Given the description of an element on the screen output the (x, y) to click on. 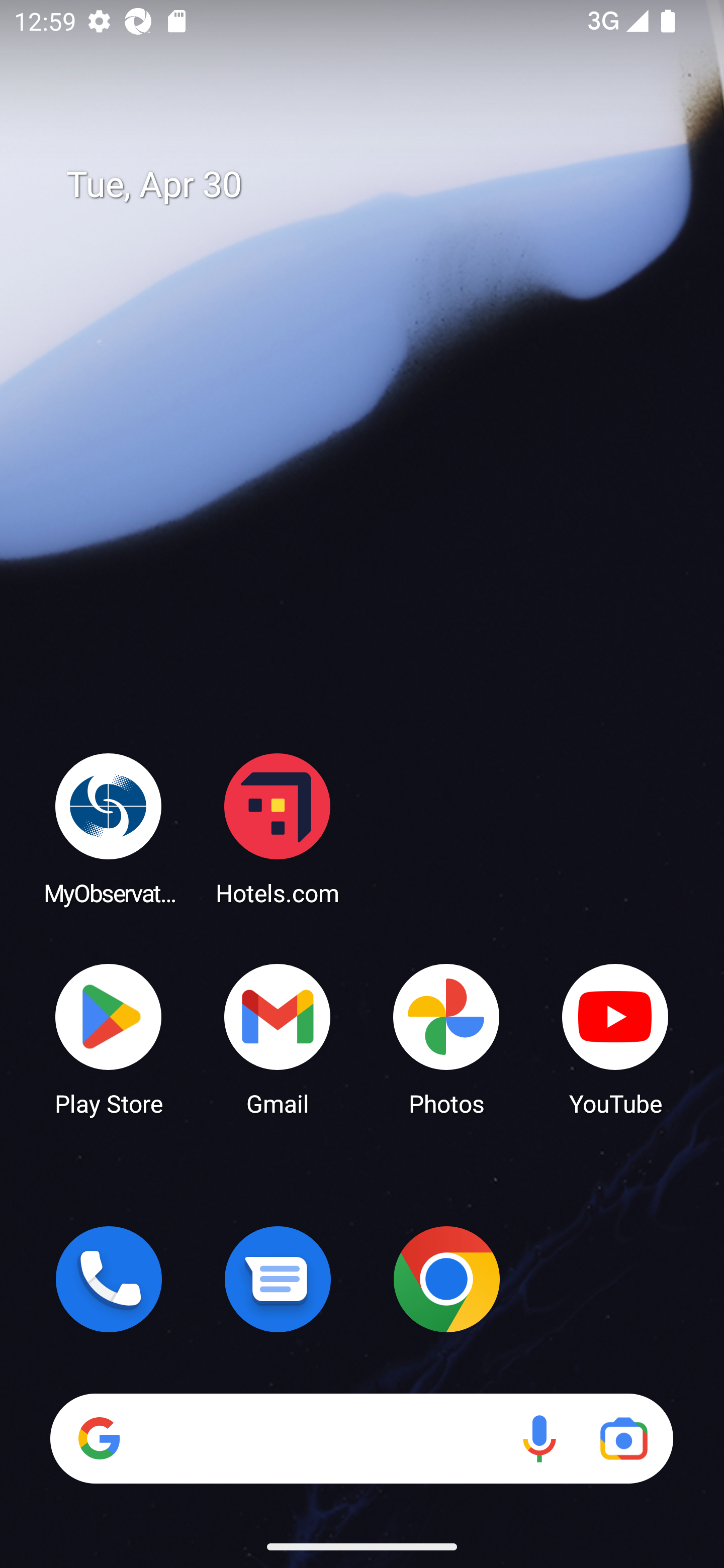
Tue, Apr 30 (375, 184)
MyObservatory (108, 828)
Hotels.com (277, 828)
Play Store (108, 1038)
Gmail (277, 1038)
Photos (445, 1038)
YouTube (615, 1038)
Phone (108, 1279)
Messages (277, 1279)
Chrome (446, 1279)
Voice search (539, 1438)
Google Lens (623, 1438)
